Given the description of an element on the screen output the (x, y) to click on. 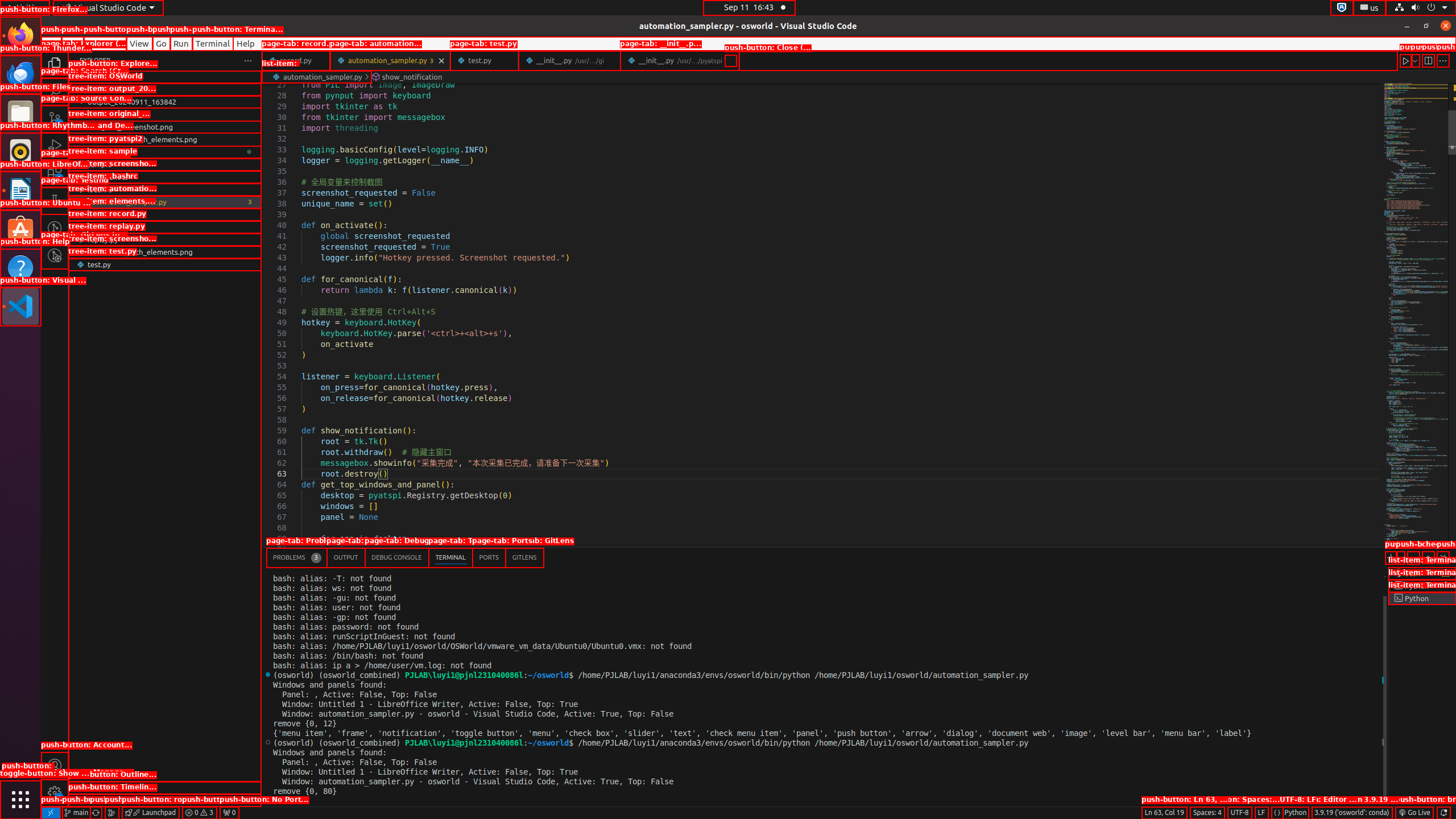
Run and Debug (Ctrl+Shift+D) Element type: page-tab (54, 145)
OSWorld (Git) - Synchronize Changes Element type: push-button (95, 812)
Output (Ctrl+K Ctrl+H) Element type: page-tab (345, 557)
